Given the description of an element on the screen output the (x, y) to click on. 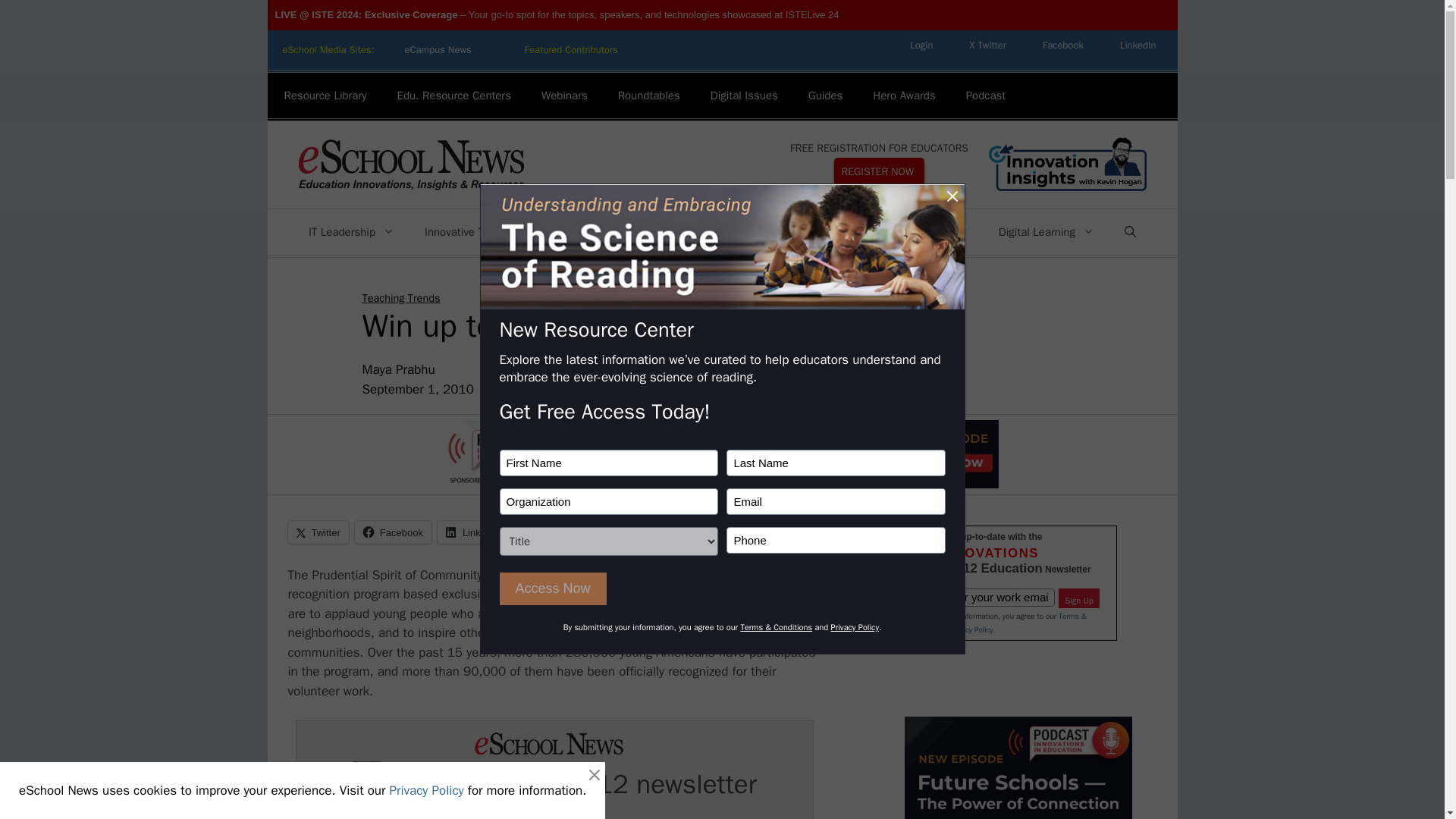
eSchool News (410, 164)
Webinars (563, 94)
Hero Awards (903, 94)
Resource Library (324, 94)
eSchool Media Sites: (327, 50)
eClassroom News (571, 50)
LinkedIn (1138, 45)
Facebook (1063, 45)
Access Now (552, 588)
Guides (826, 94)
Roundtables (648, 94)
View all posts by Maya Prabhu (398, 369)
Facebook (1063, 45)
Login (921, 45)
Click to share on LinkedIn (473, 531)
